Given the description of an element on the screen output the (x, y) to click on. 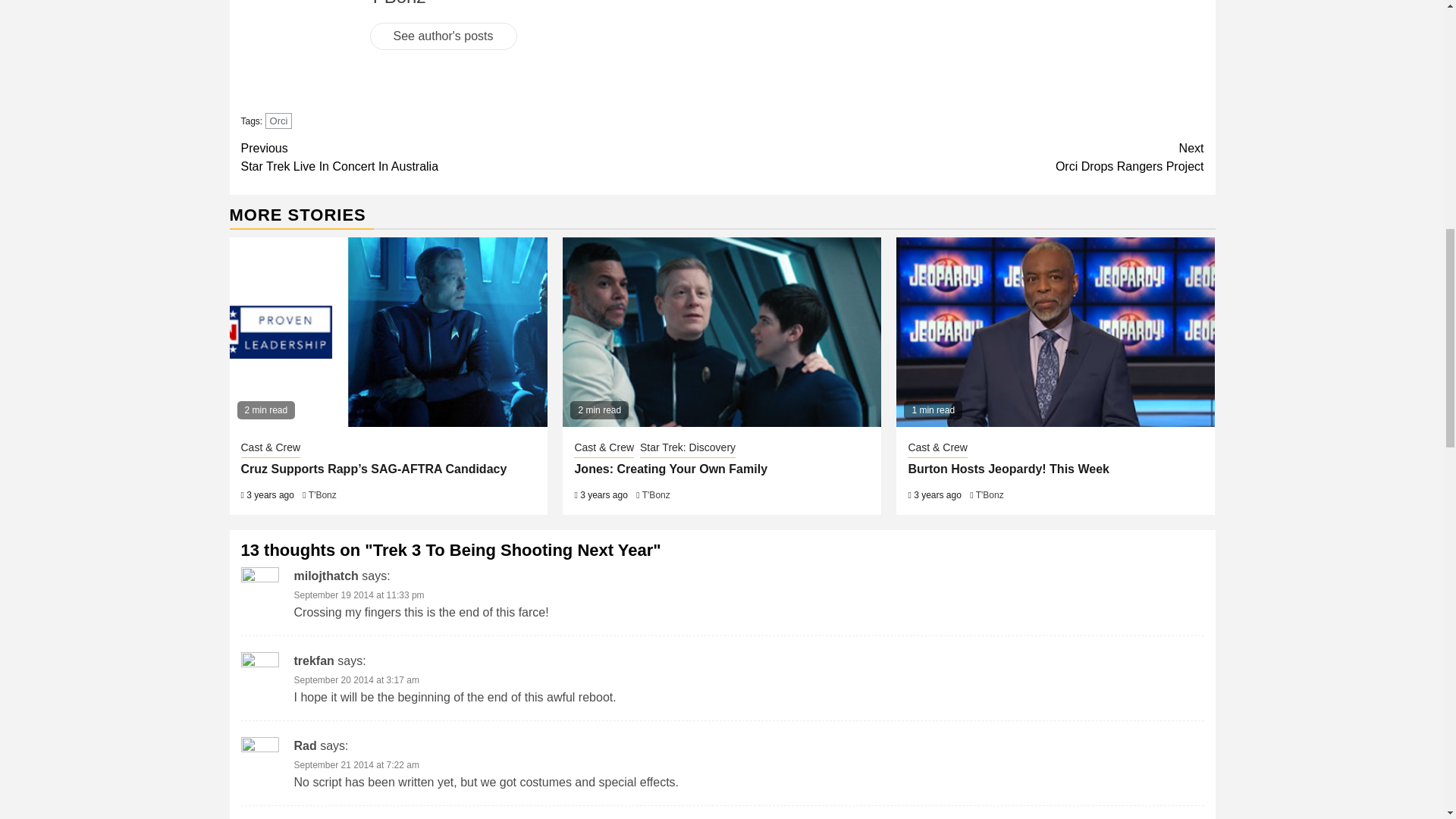
Orci (963, 157)
See author's posts (481, 157)
T'Bonz (278, 120)
T'Bonz (442, 35)
